Given the description of an element on the screen output the (x, y) to click on. 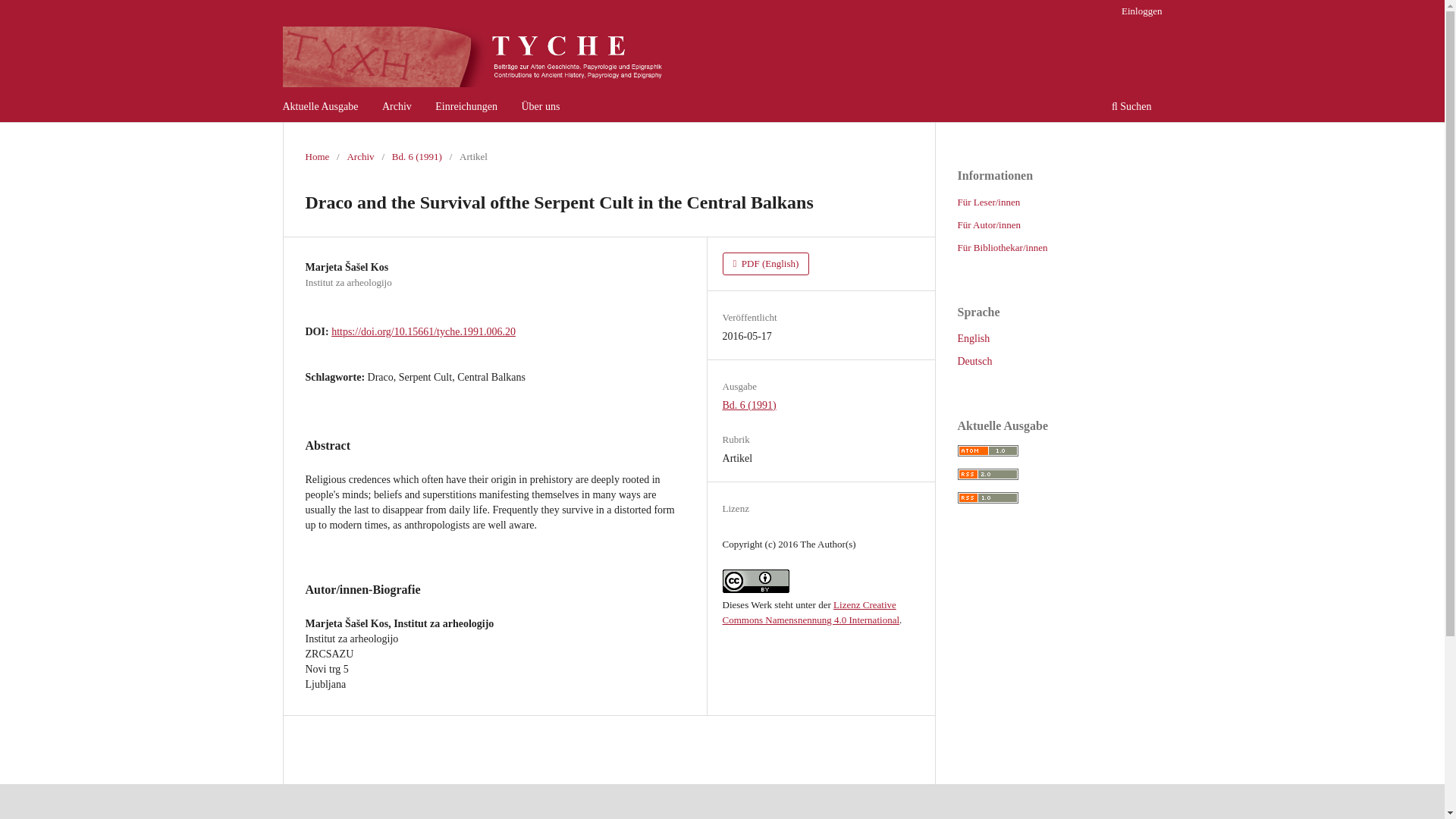
Suchen (1131, 108)
Archiv (360, 156)
Archiv (396, 108)
Aktuelle Ausgabe (321, 108)
Einloggen (1141, 11)
Deutsch (973, 360)
Home (316, 156)
Lizenz Creative Commons Namensnennung 4.0 International (810, 611)
English (973, 337)
Einreichungen (465, 108)
